Given the description of an element on the screen output the (x, y) to click on. 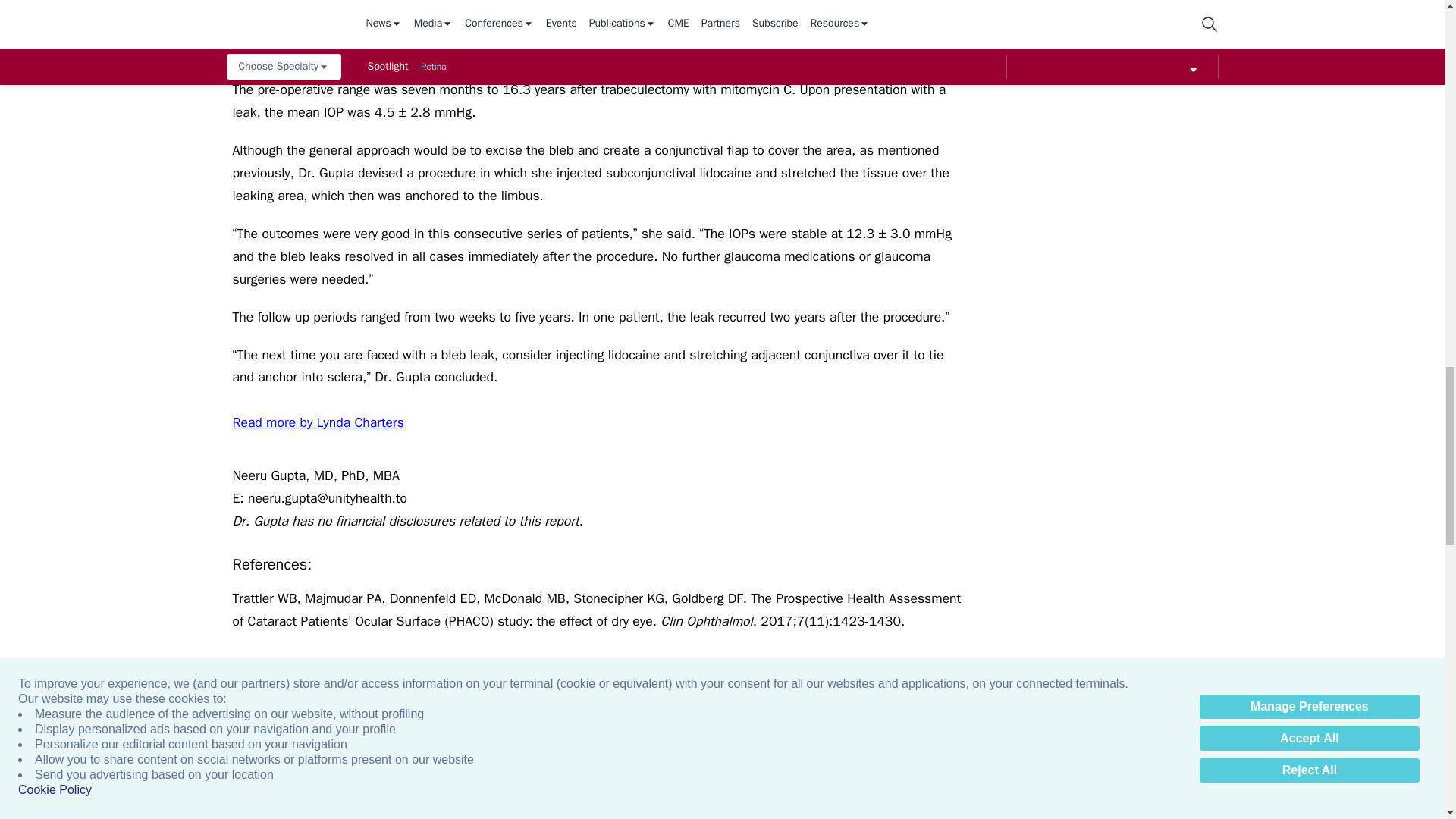
1 KOL is featured in this series. (671, 790)
Lorraine Provencher, MD, presenting slides (1326, 790)
1 KOL is featured in this series. (343, 790)
1 KOL is featured in this series. (507, 790)
1 KOL is featured in this series. (835, 790)
